Given the description of an element on the screen output the (x, y) to click on. 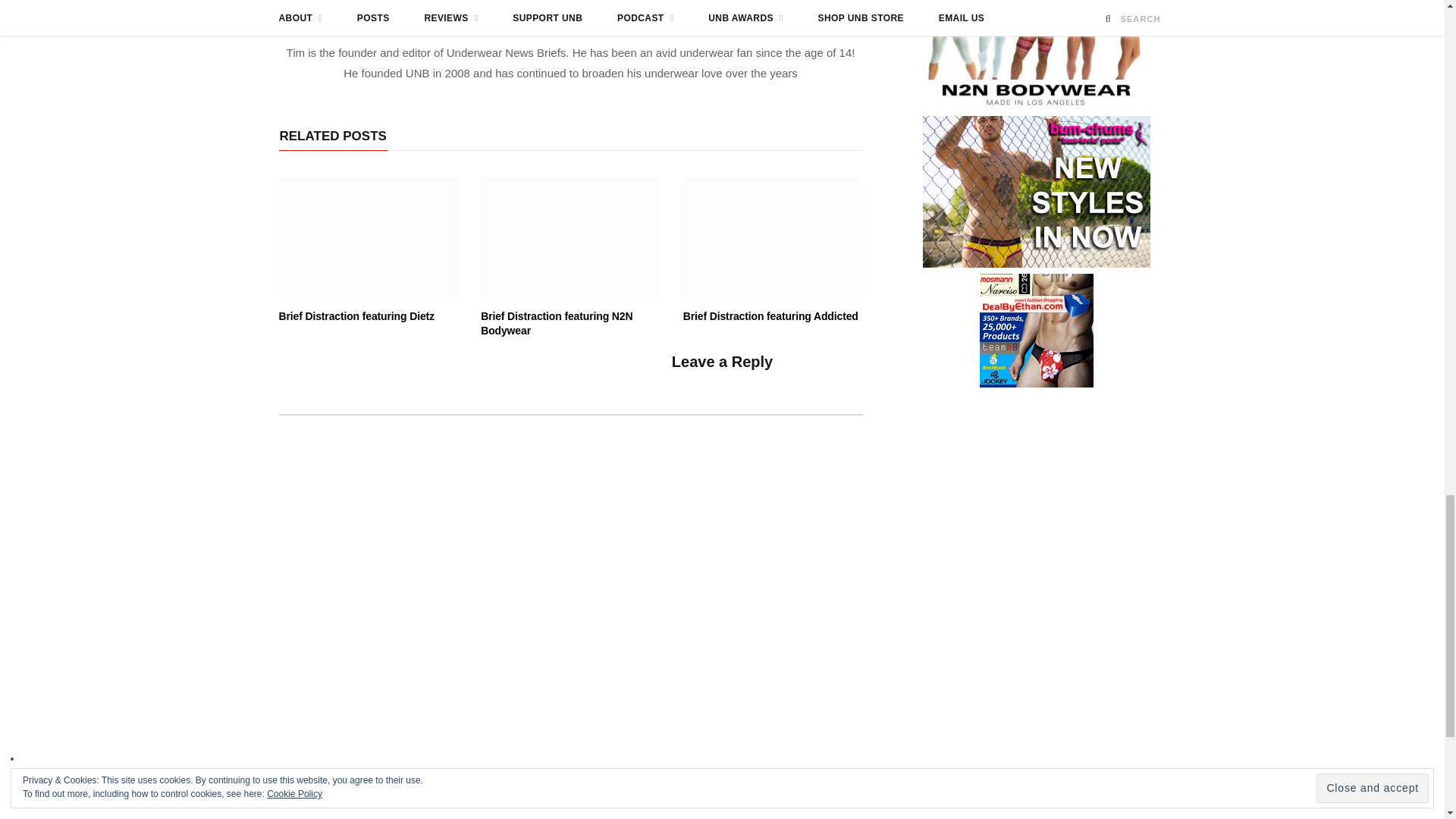
Brief Distraction featuring Dietz (368, 237)
Brief Distraction featuring Addicted (772, 237)
Posts by UNBTim (570, 11)
Brief Distraction featuring N2N Bodywear (570, 237)
